Given the description of an element on the screen output the (x, y) to click on. 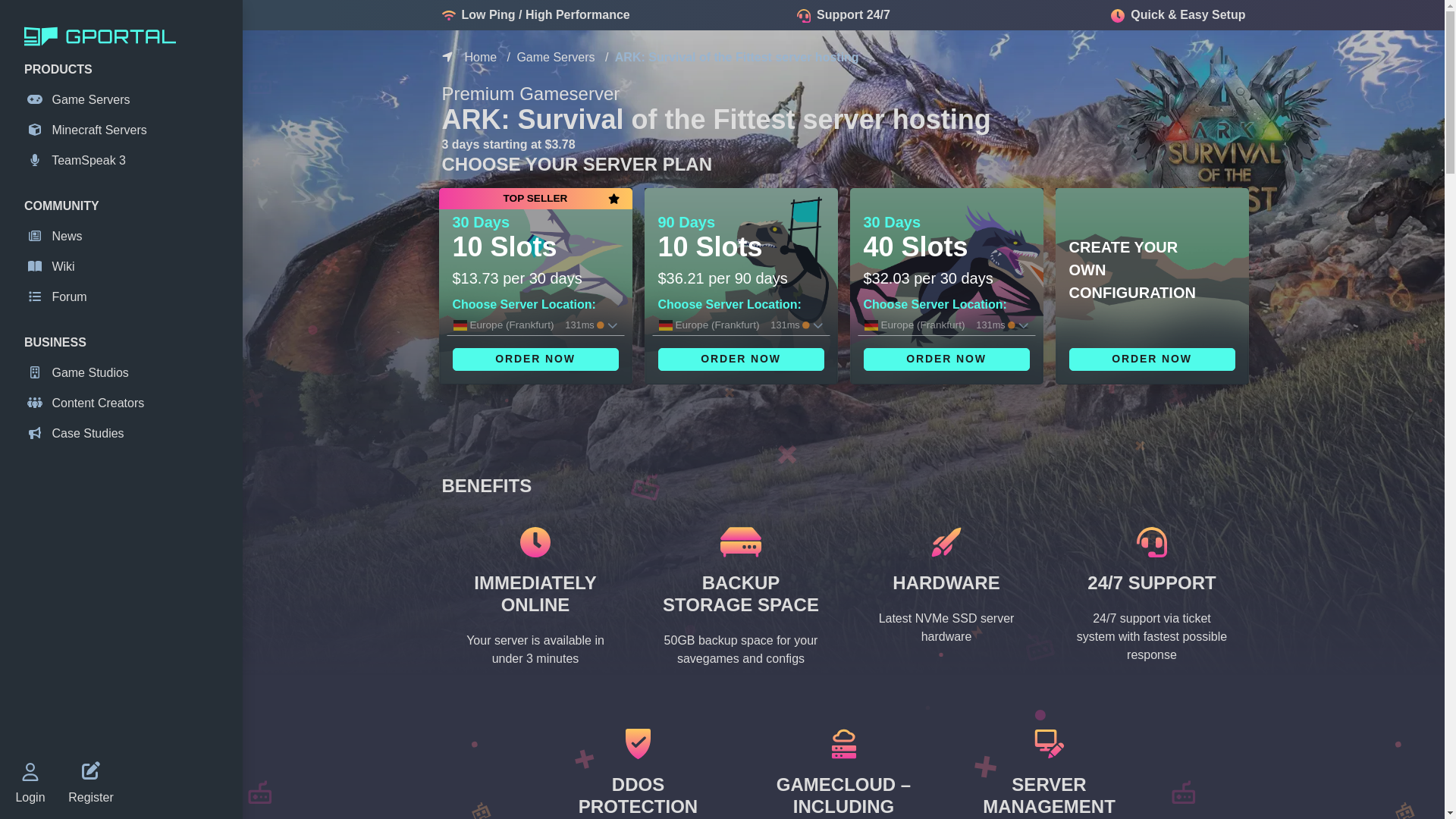
Case Studies (124, 433)
Game Studios (124, 372)
Game Servers (124, 99)
ORDER NOW (946, 359)
Content Creators (124, 403)
Wiki (124, 266)
ORDER NOW (1151, 359)
ORDER NOW (534, 359)
ORDER NOW (741, 359)
Game Servers (555, 56)
TeamSpeak 3 (124, 160)
Forum (124, 297)
Home (480, 56)
Minecraft Servers (124, 129)
News (124, 236)
